Given the description of an element on the screen output the (x, y) to click on. 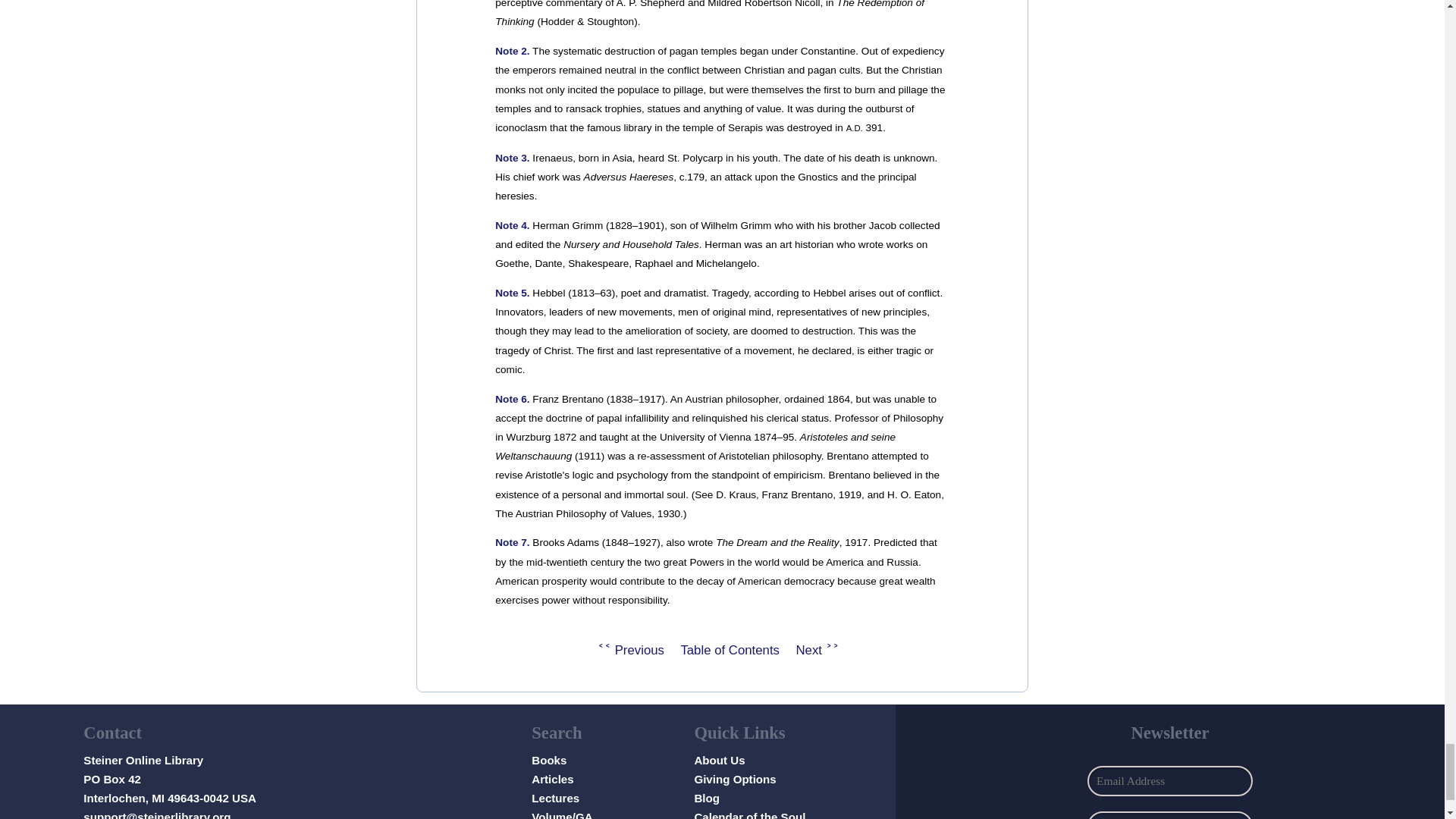
Note 7. (512, 542)
Table of Contents (730, 649)
Note 5. (512, 292)
Note 3. (512, 157)
Note 2. (512, 50)
Note 6. (512, 398)
Note 4. (512, 225)
